Given the description of an element on the screen output the (x, y) to click on. 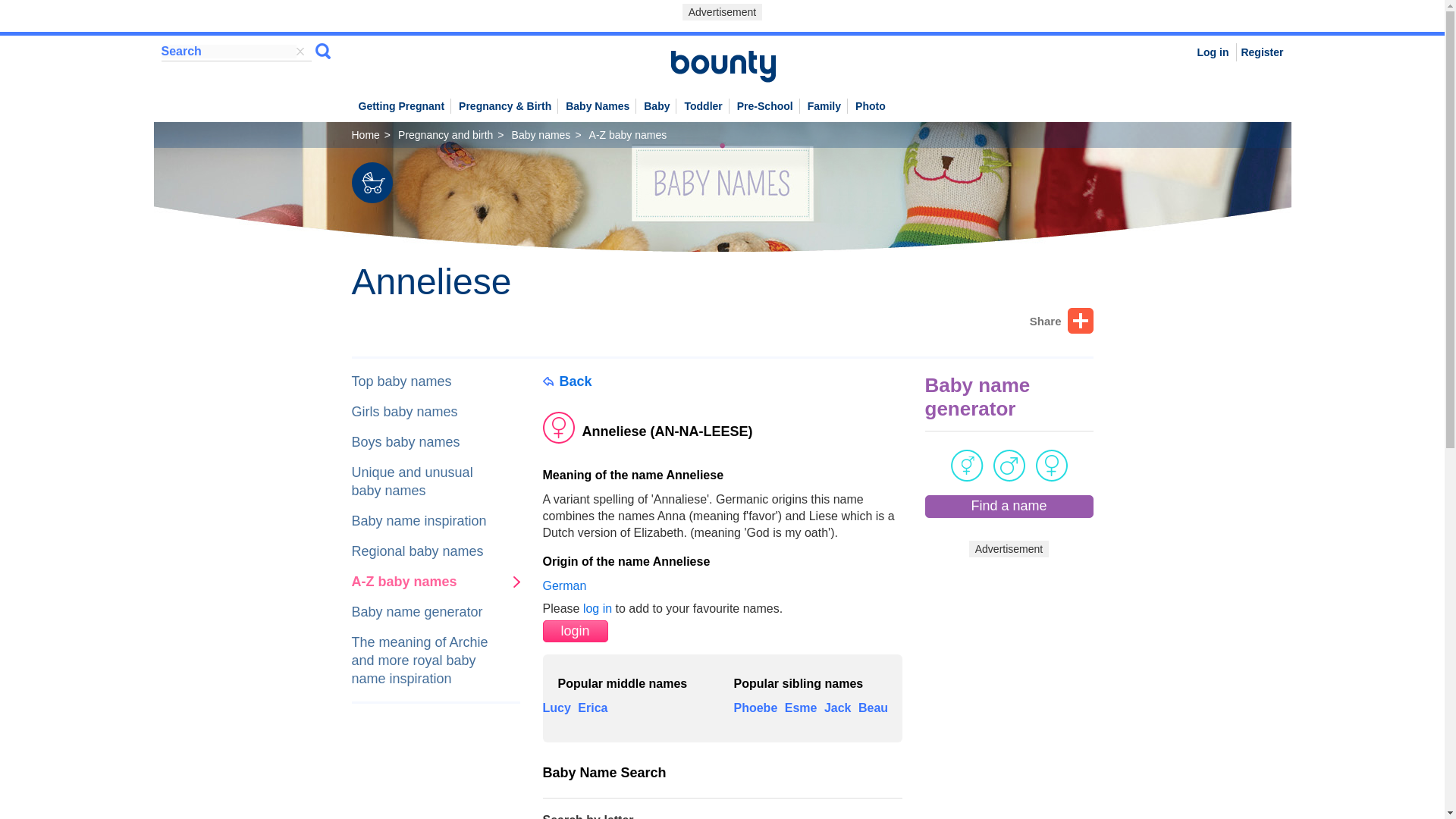
Find a name (1008, 506)
delete (298, 51)
Search (323, 51)
Getting Pregnant (401, 103)
Female (722, 410)
Log in (1212, 51)
Register (1261, 51)
